Given the description of an element on the screen output the (x, y) to click on. 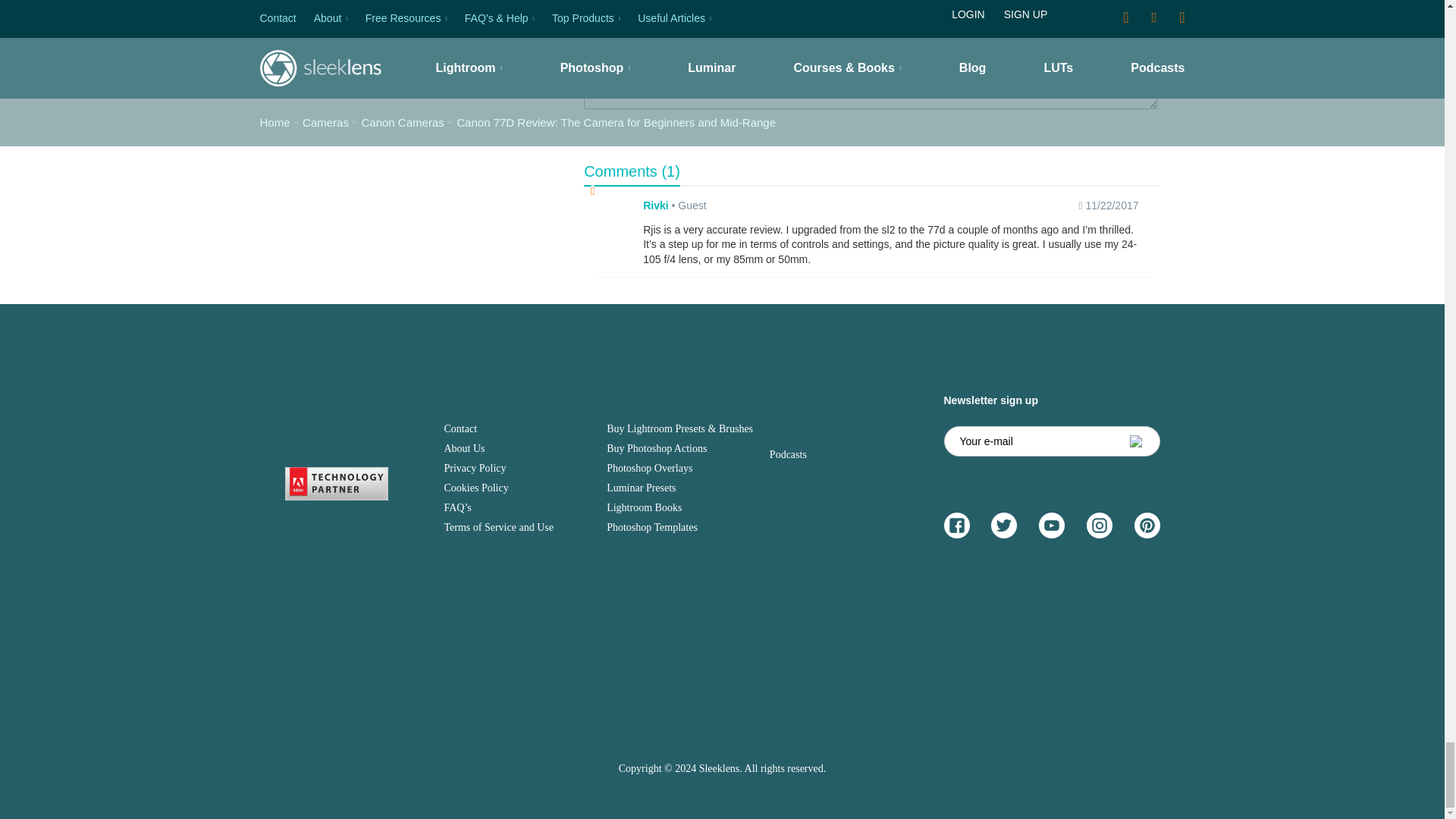
Your e-mail (1050, 440)
